Given the description of an element on the screen output the (x, y) to click on. 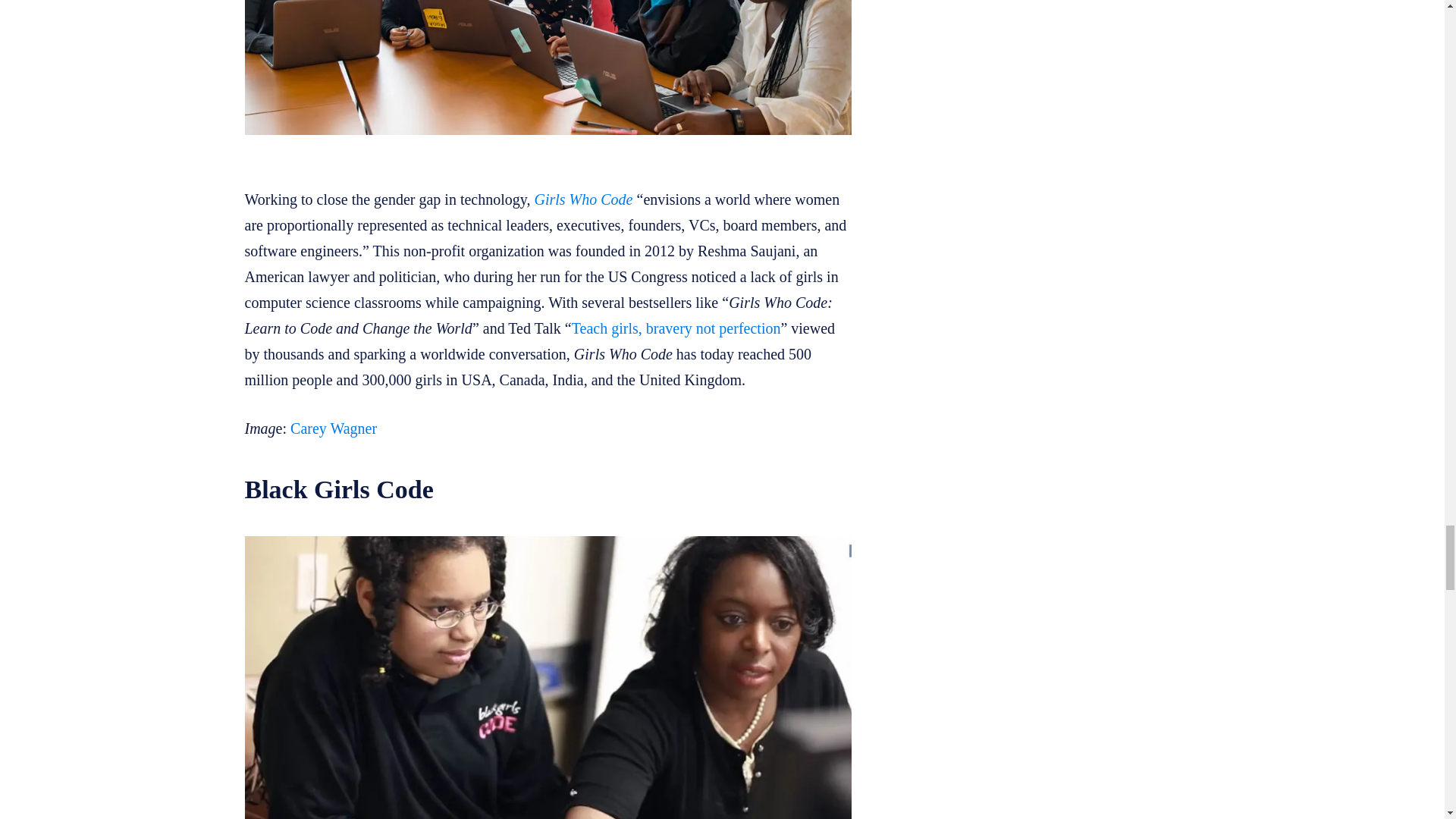
Teach girls, bravery not perfection (676, 328)
Girls Who Code (582, 199)
Carey Wagner (333, 428)
